Given the description of an element on the screen output the (x, y) to click on. 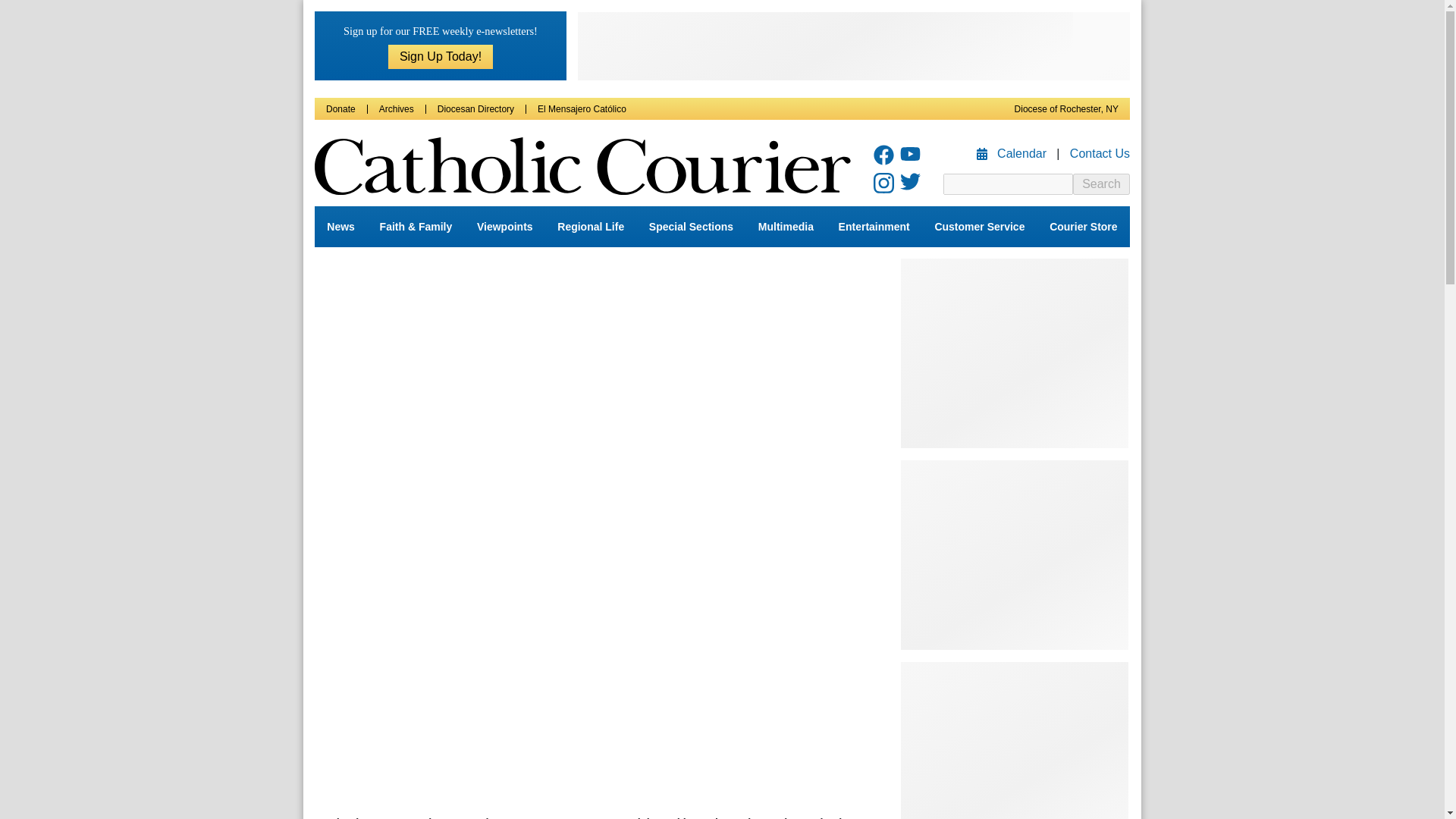
Contact Us (1099, 153)
Diocese of Rochester, NY (1066, 108)
Archives (395, 108)
Donate (340, 108)
Search (1101, 183)
Sign Up Today! (440, 56)
News (340, 226)
Regional Life (590, 226)
Viewpoints (504, 226)
Special Sections (691, 226)
